Given the description of an element on the screen output the (x, y) to click on. 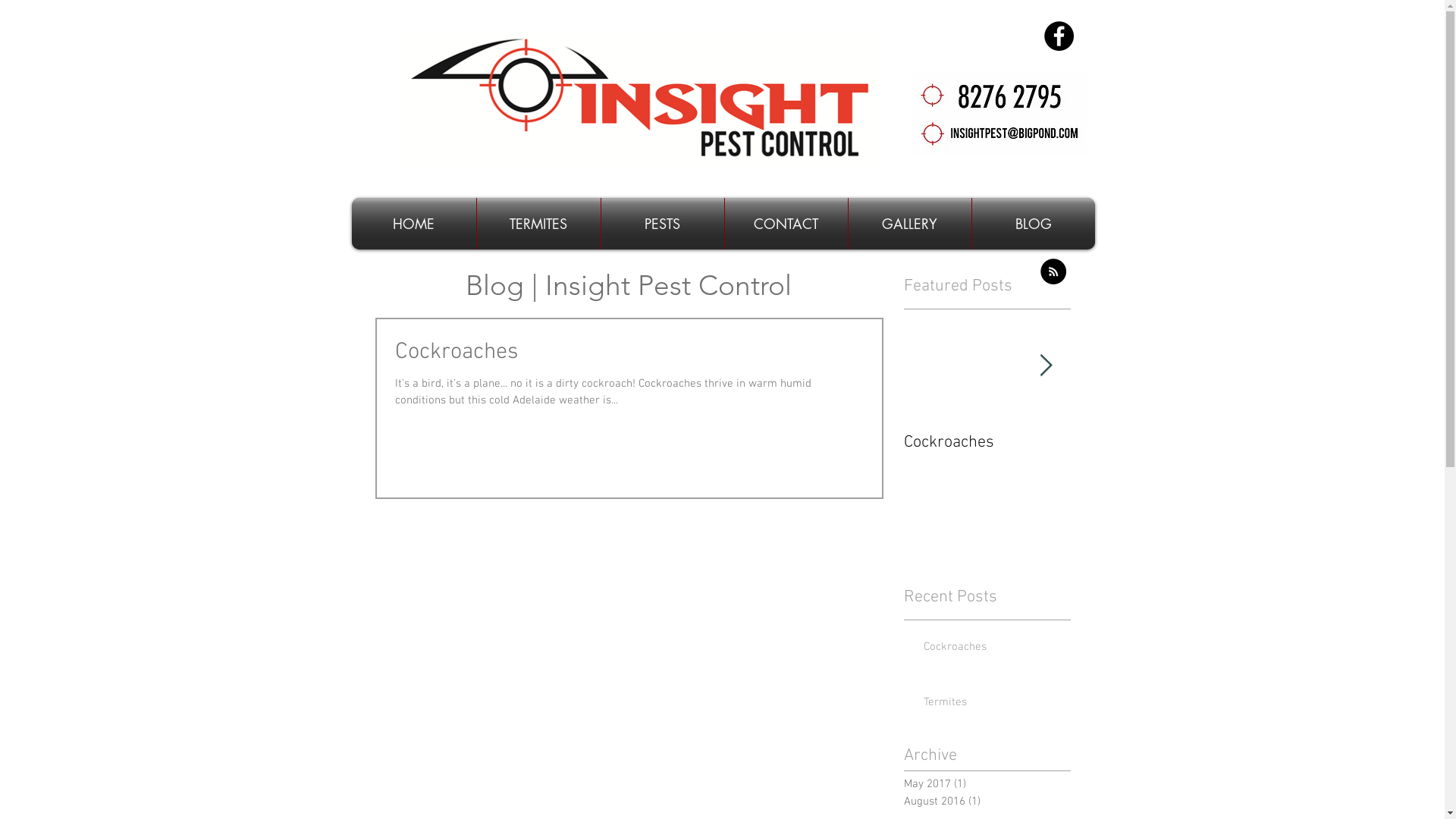
PESTS Element type: text (661, 223)
May 2017 (1) Element type: text (983, 784)
Termites Element type: text (992, 705)
Cockroaches Element type: text (992, 650)
TERMITES Element type: text (537, 223)
Cockroaches Element type: text (986, 442)
CONTACT Element type: text (785, 223)
Cockroaches Element type: text (628, 356)
August 2016 (1) Element type: text (983, 801)
RSS Feed Element type: hover (1053, 271)
HOME Element type: text (413, 223)
Termites Element type: text (1153, 442)
GALLERY Element type: text (908, 223)
BLOG Element type: text (1033, 223)
